Given the description of an element on the screen output the (x, y) to click on. 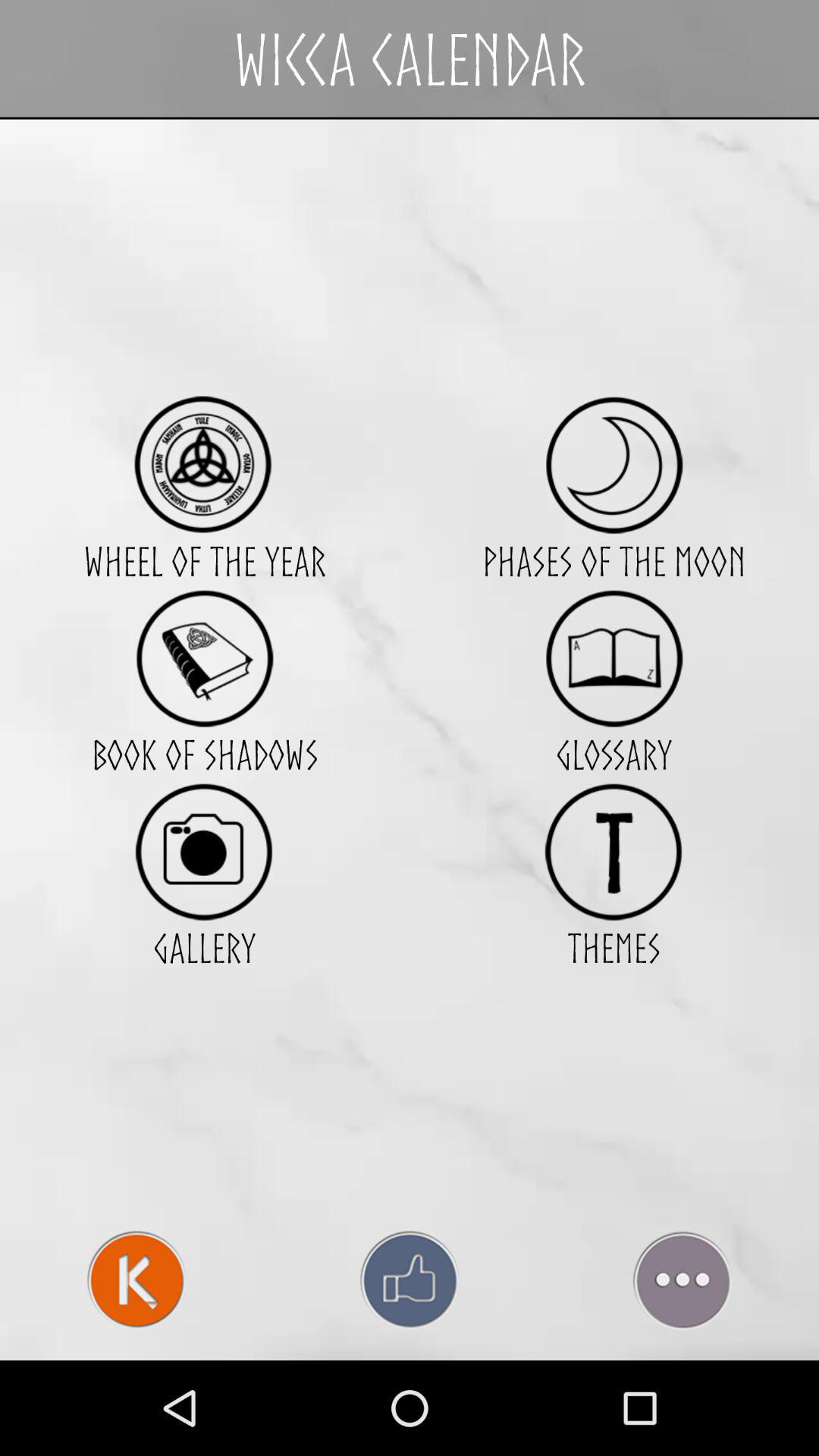
choose item to the left of the phases of the item (204, 464)
